Given the description of an element on the screen output the (x, y) to click on. 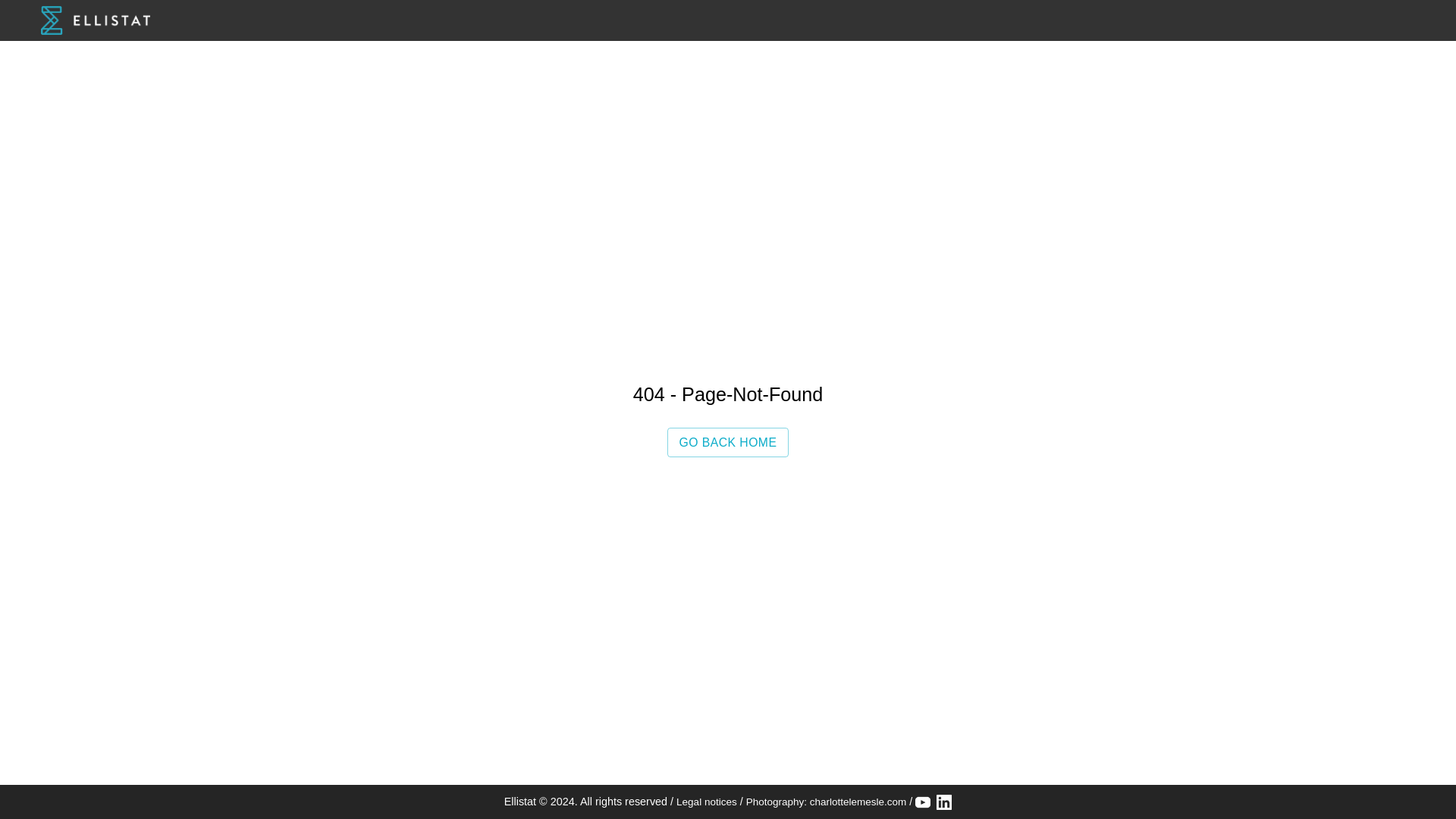
Legal notices (706, 801)
Photography: charlottelemesle.com (826, 801)
GO BACK HOME (727, 442)
GO BACK HOME (728, 442)
